Given the description of an element on the screen output the (x, y) to click on. 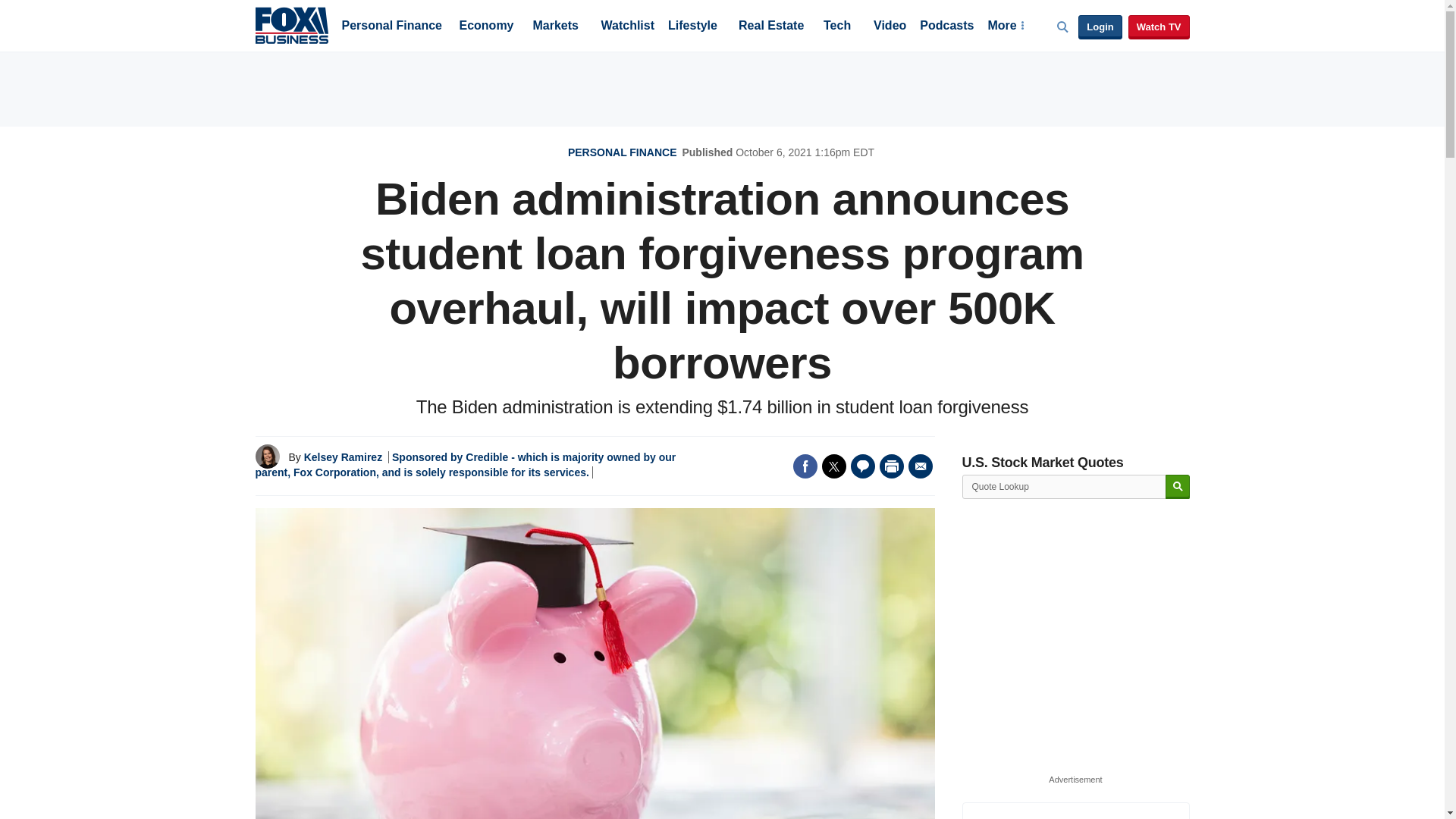
Search (1176, 487)
Markets (555, 27)
Personal Finance (391, 27)
Lifestyle (692, 27)
Tech (837, 27)
Watchlist (626, 27)
Podcasts (947, 27)
Video (889, 27)
Real Estate (770, 27)
Fox Business (290, 24)
